Given the description of an element on the screen output the (x, y) to click on. 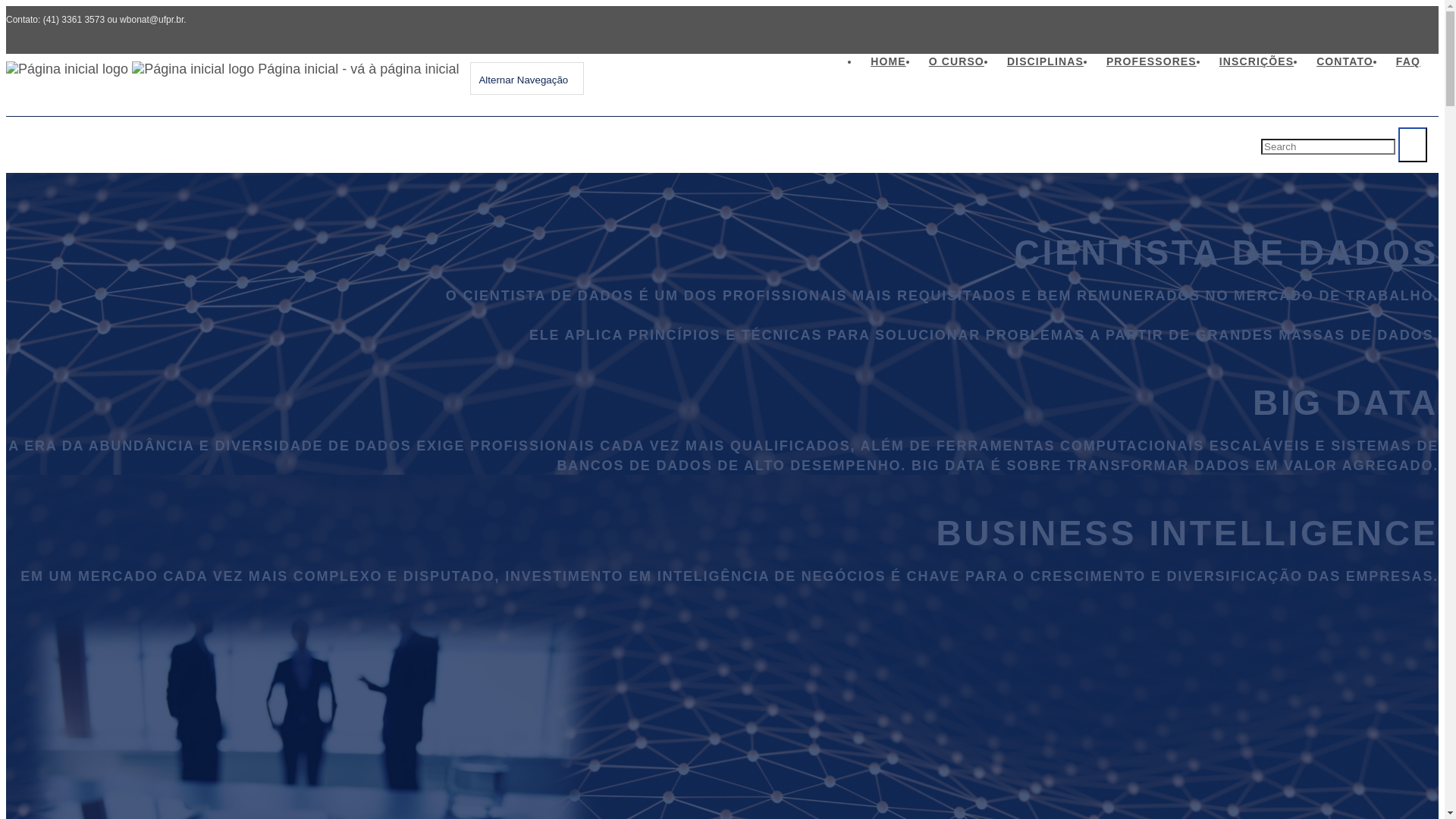
PROFESSORES Element type: text (1151, 59)
CONTATO Element type: text (1344, 59)
HOME Element type: text (887, 59)
O CURSO Element type: text (956, 59)
DISCIPLINAS Element type: text (1045, 59)
FAQ Element type: text (1407, 59)
